Given the description of an element on the screen output the (x, y) to click on. 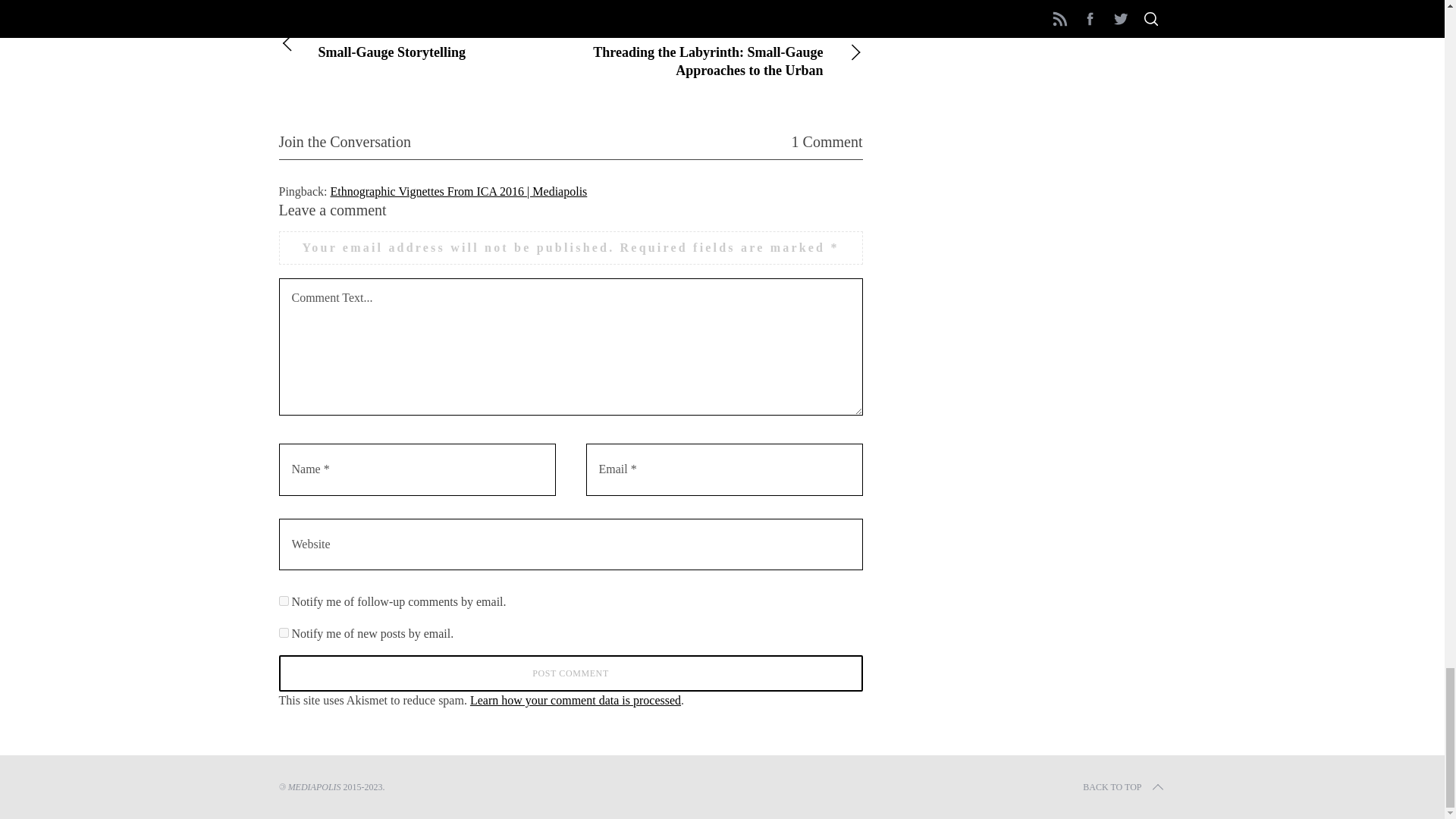
Post Comment (571, 673)
subscribe (283, 601)
subscribe (283, 633)
